Given the description of an element on the screen output the (x, y) to click on. 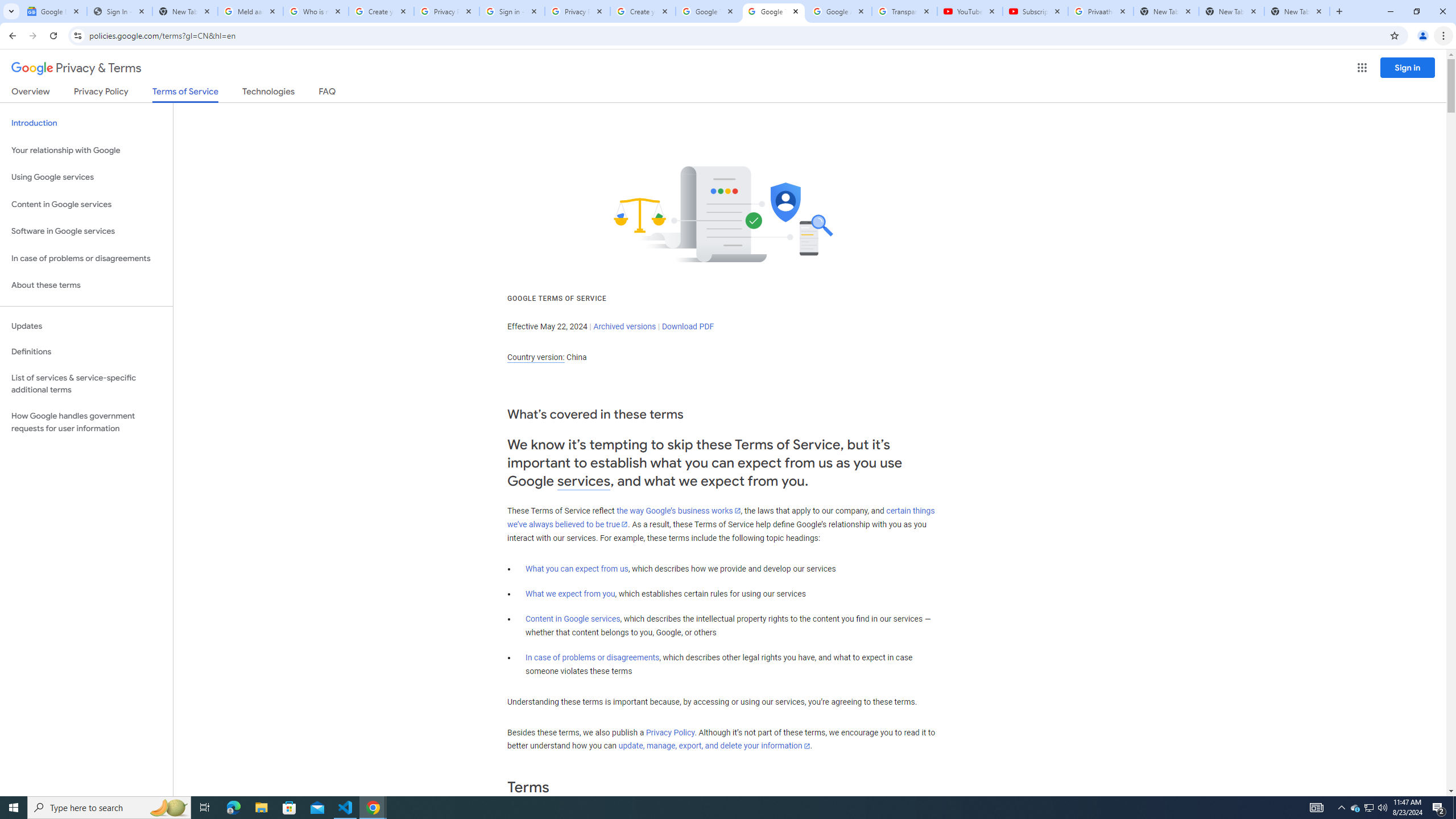
What we expect from you (570, 593)
YouTube (969, 11)
In case of problems or disagreements (592, 657)
What you can expect from us (576, 568)
Create your Google Account (381, 11)
List of services & service-specific additional terms (86, 383)
Google Account (838, 11)
